Given the description of an element on the screen output the (x, y) to click on. 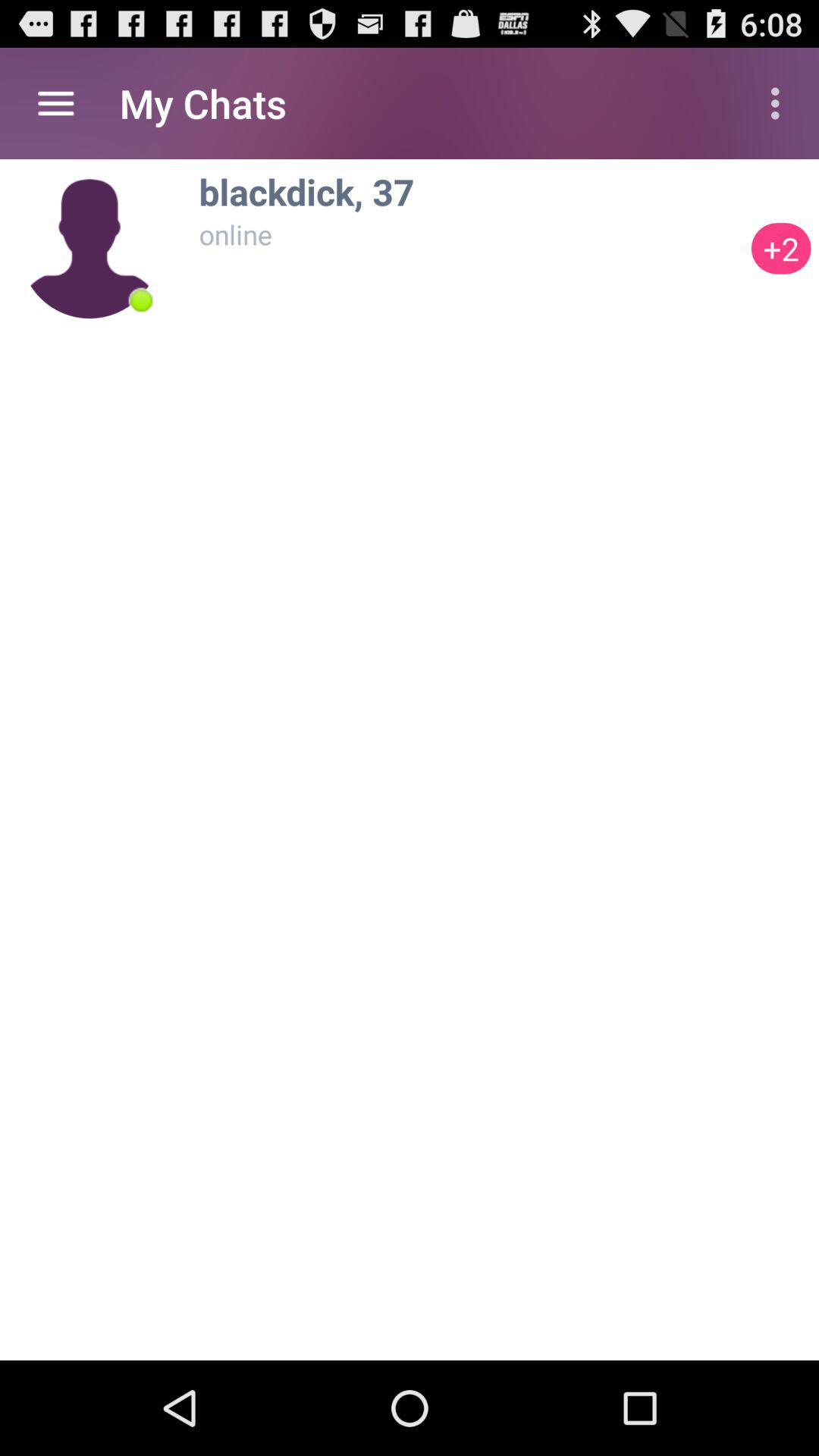
open item next to +2 (141, 300)
